Given the description of an element on the screen output the (x, y) to click on. 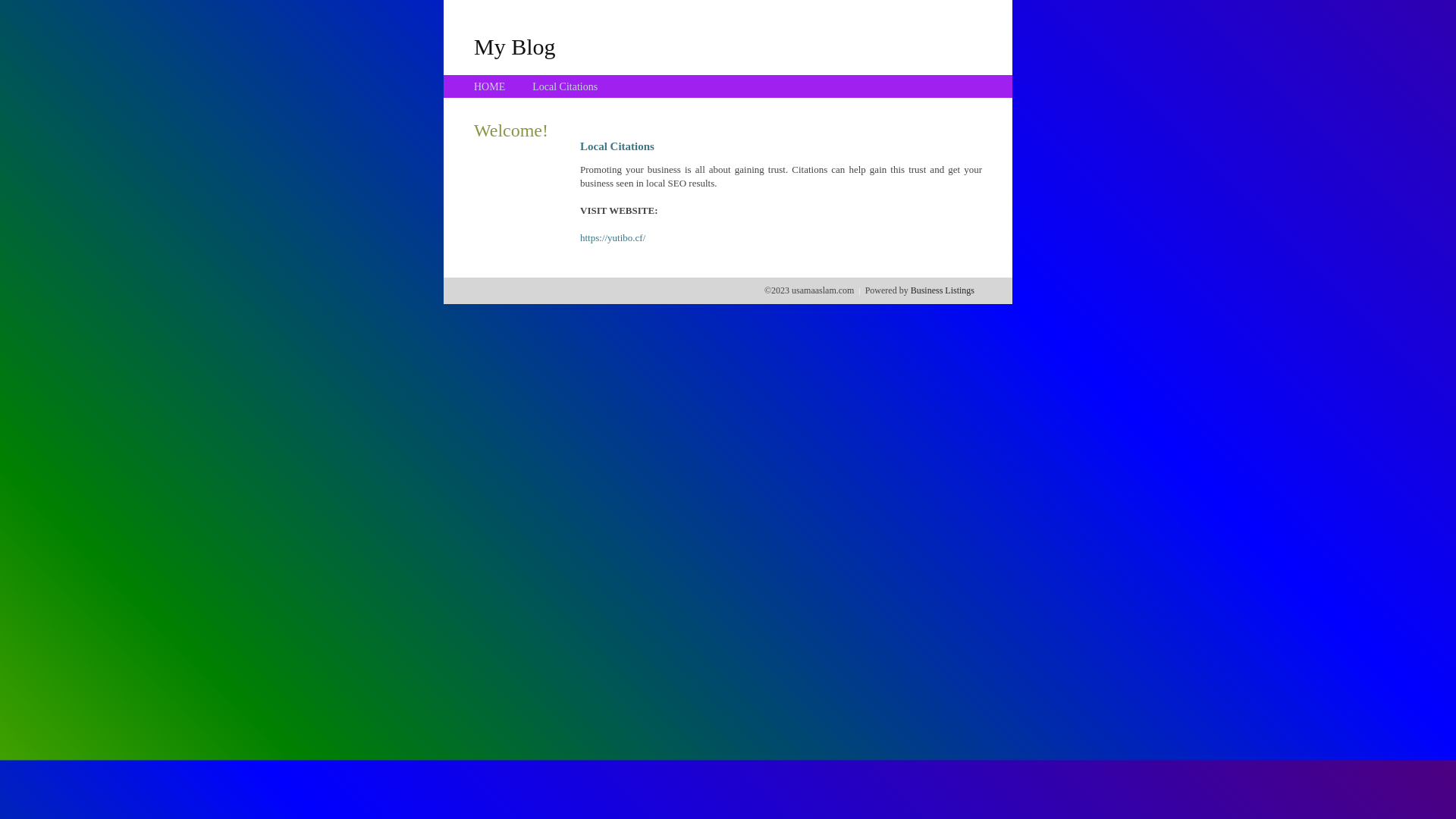
My Blog Element type: text (514, 46)
Local Citations Element type: text (564, 86)
Business Listings Element type: text (942, 290)
https://yutibo.cf/ Element type: text (612, 237)
HOME Element type: text (489, 86)
